Given the description of an element on the screen output the (x, y) to click on. 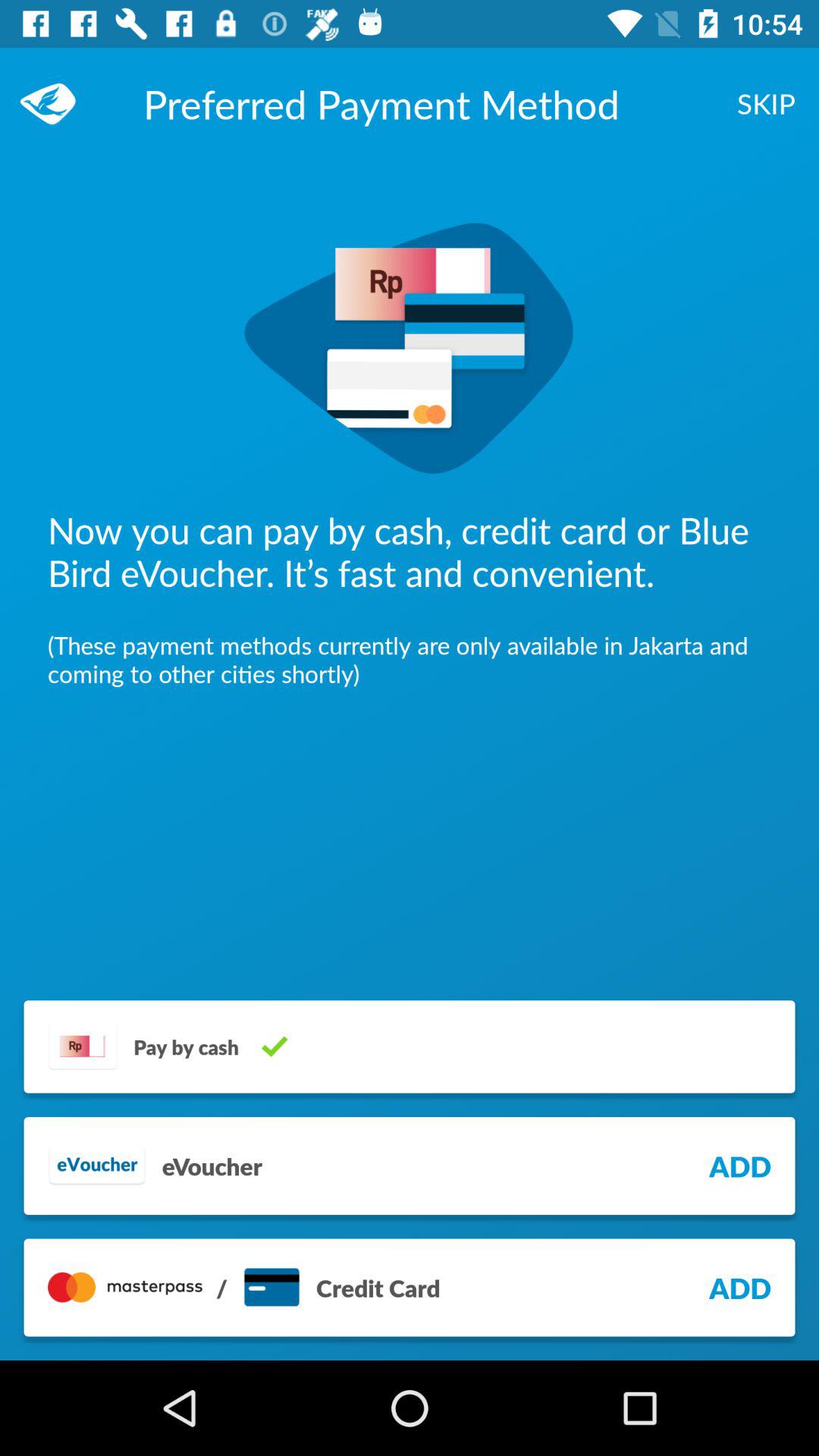
select the icon above the now you can item (766, 103)
